Given the description of an element on the screen output the (x, y) to click on. 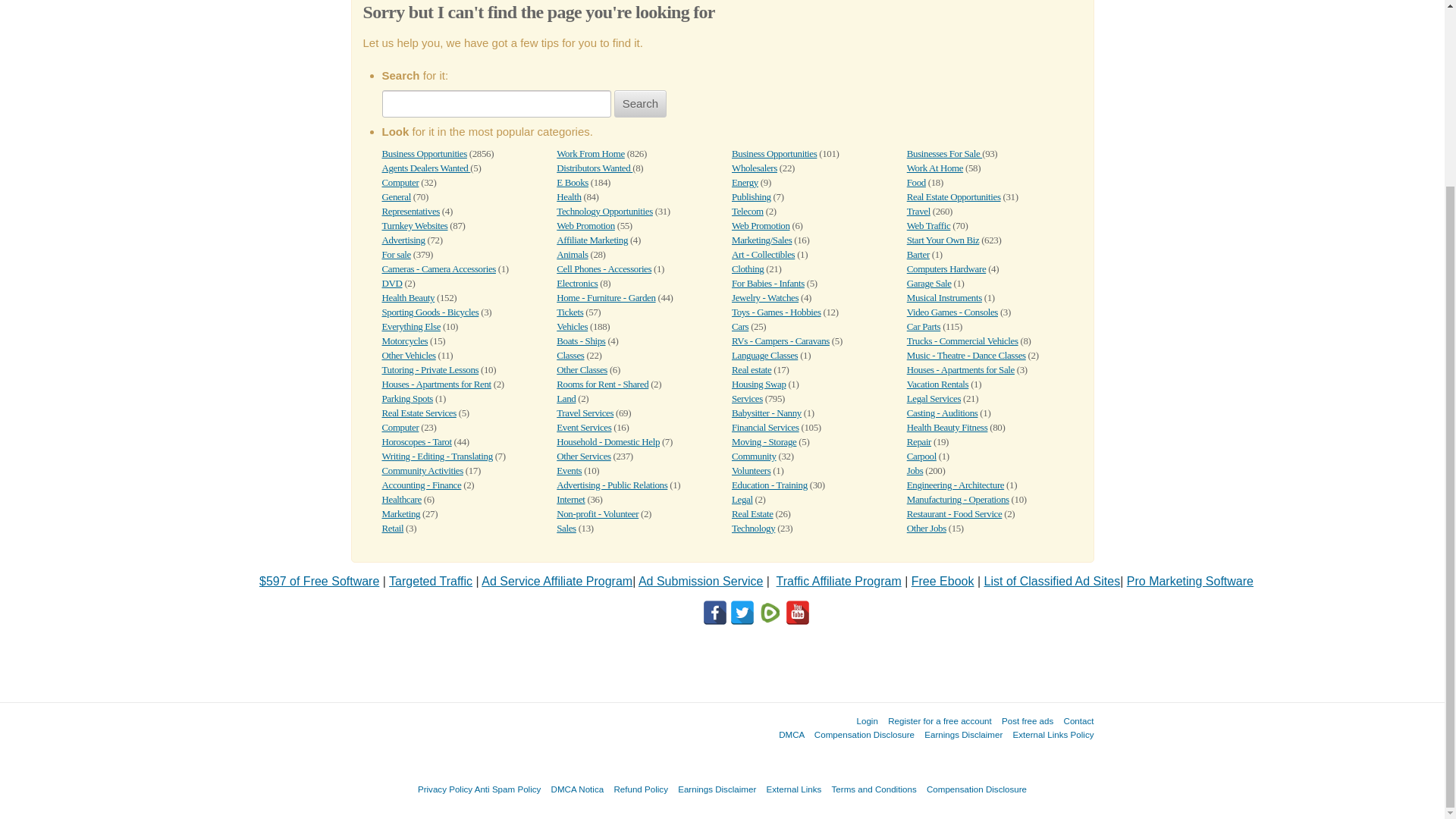
Search (640, 103)
For sale (395, 254)
Web Promotion (761, 225)
Travel (918, 211)
Start Your Own Biz (943, 239)
Telecom (747, 211)
Turnkey Websites (414, 225)
E Books (572, 182)
Barter (918, 254)
General (395, 196)
Computer (400, 182)
Wholesalers (754, 167)
Technology Opportunities (604, 211)
Publishing (751, 196)
Work At Home (934, 167)
